Given the description of an element on the screen output the (x, y) to click on. 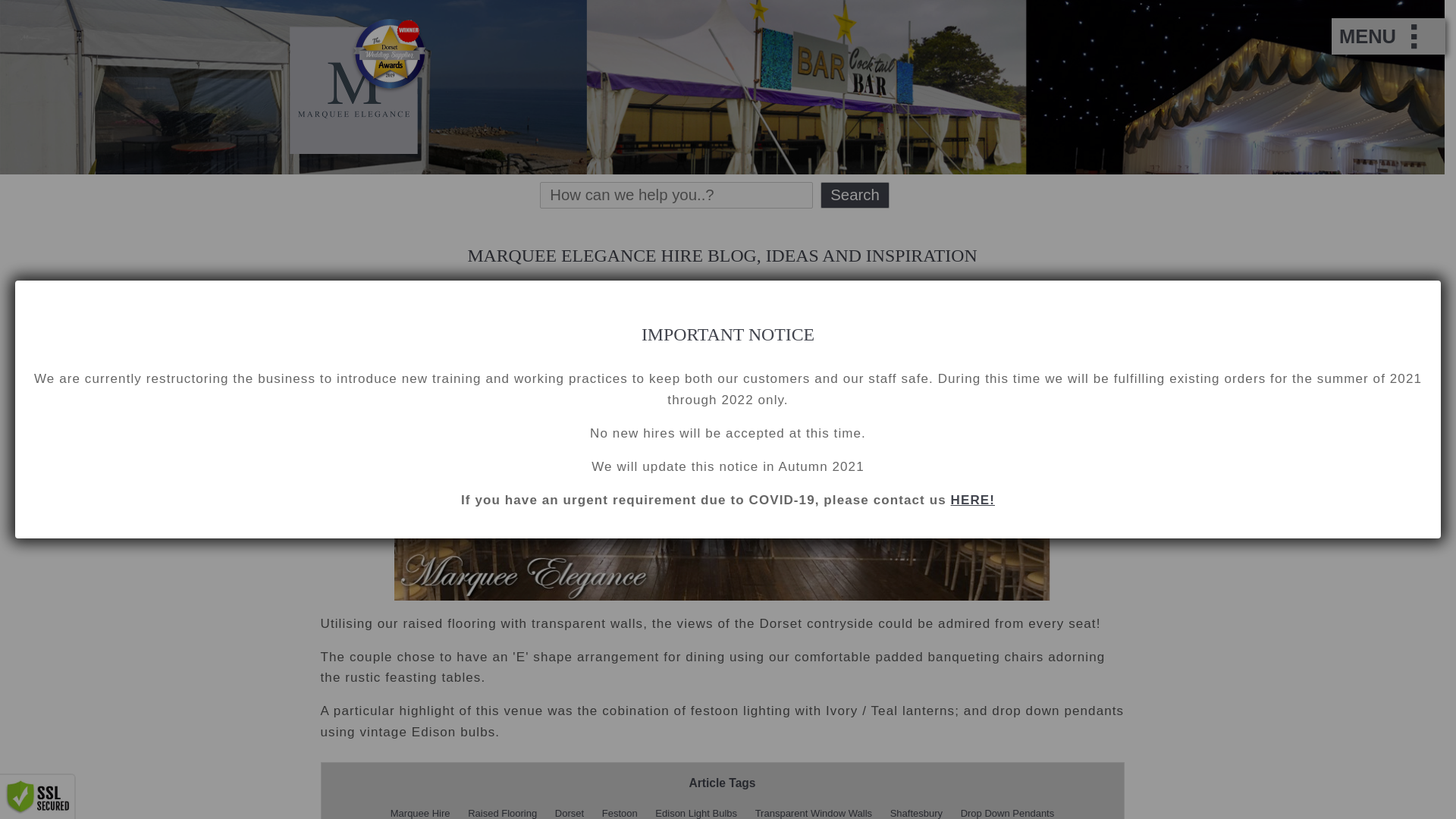
Raised Flooring (502, 806)
Marquee Elegance Home Page (357, 149)
Shaftesbury (916, 806)
Transparent Window Walls (813, 806)
Edison Light Bulbs (695, 806)
Covid-19 Emergency Structures (972, 499)
Drop Down Pendants (1007, 806)
Dorset (569, 806)
Marquee Hire (420, 806)
Search (855, 194)
